Given the description of an element on the screen output the (x, y) to click on. 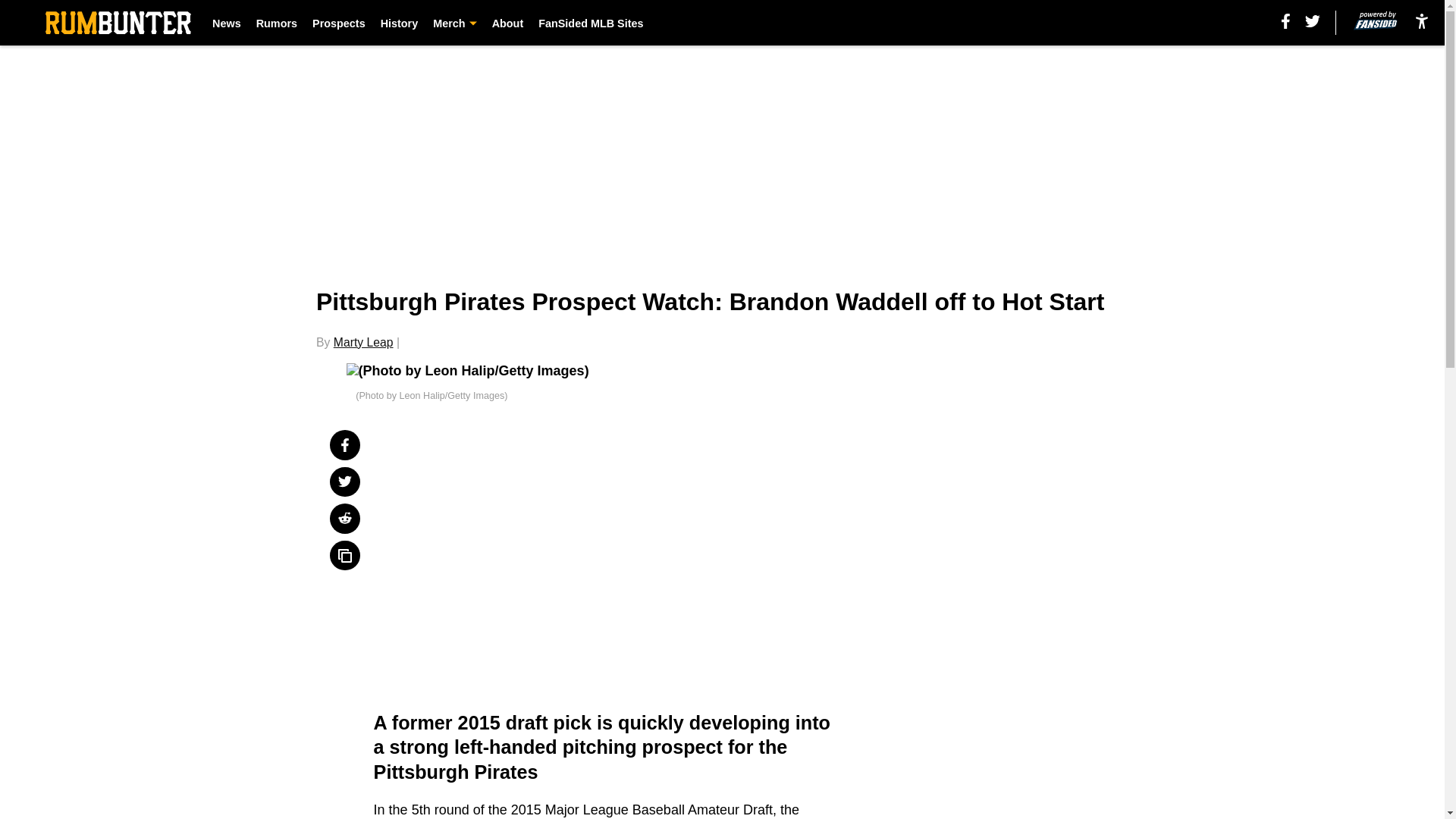
News (226, 23)
Rumors (276, 23)
Marty Leap (363, 341)
About (508, 23)
FanSided MLB Sites (590, 23)
History (399, 23)
Prospects (339, 23)
